Given the description of an element on the screen output the (x, y) to click on. 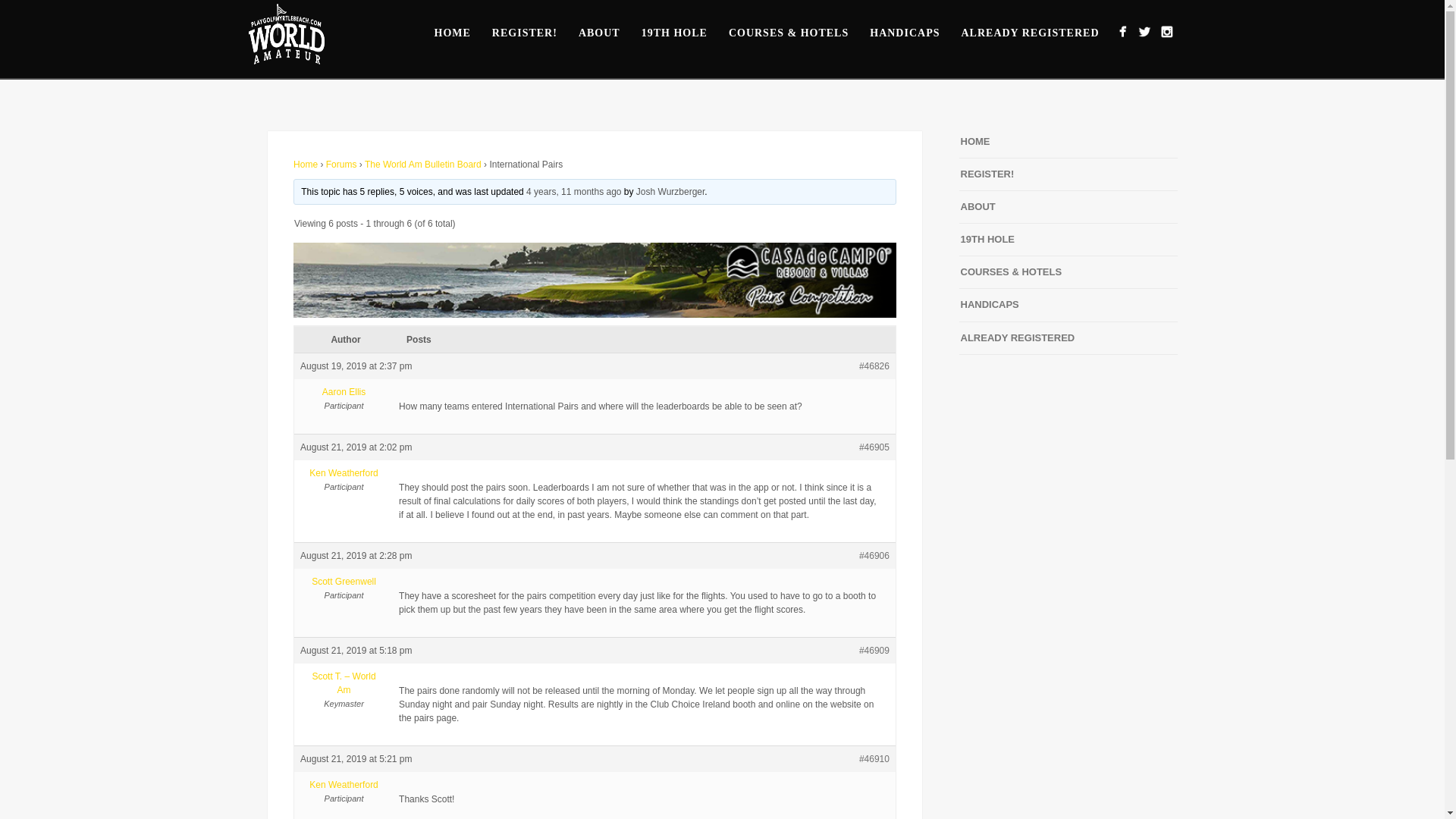
Ken Weatherford (343, 784)
Ken Weatherford (343, 472)
View Scott Greenwell's profile (343, 581)
Reply To: International Pairs (573, 191)
ABOUT (976, 206)
View Josh Wurzberger's profile (670, 191)
HOME (974, 140)
4 years, 11 months ago (573, 191)
View Ken Weatherford's profile (343, 472)
Home (305, 163)
Forums (341, 163)
Scott Greenwell (343, 581)
REGISTER! (524, 33)
HOME (452, 33)
HANDICAPS (904, 33)
